Given the description of an element on the screen output the (x, y) to click on. 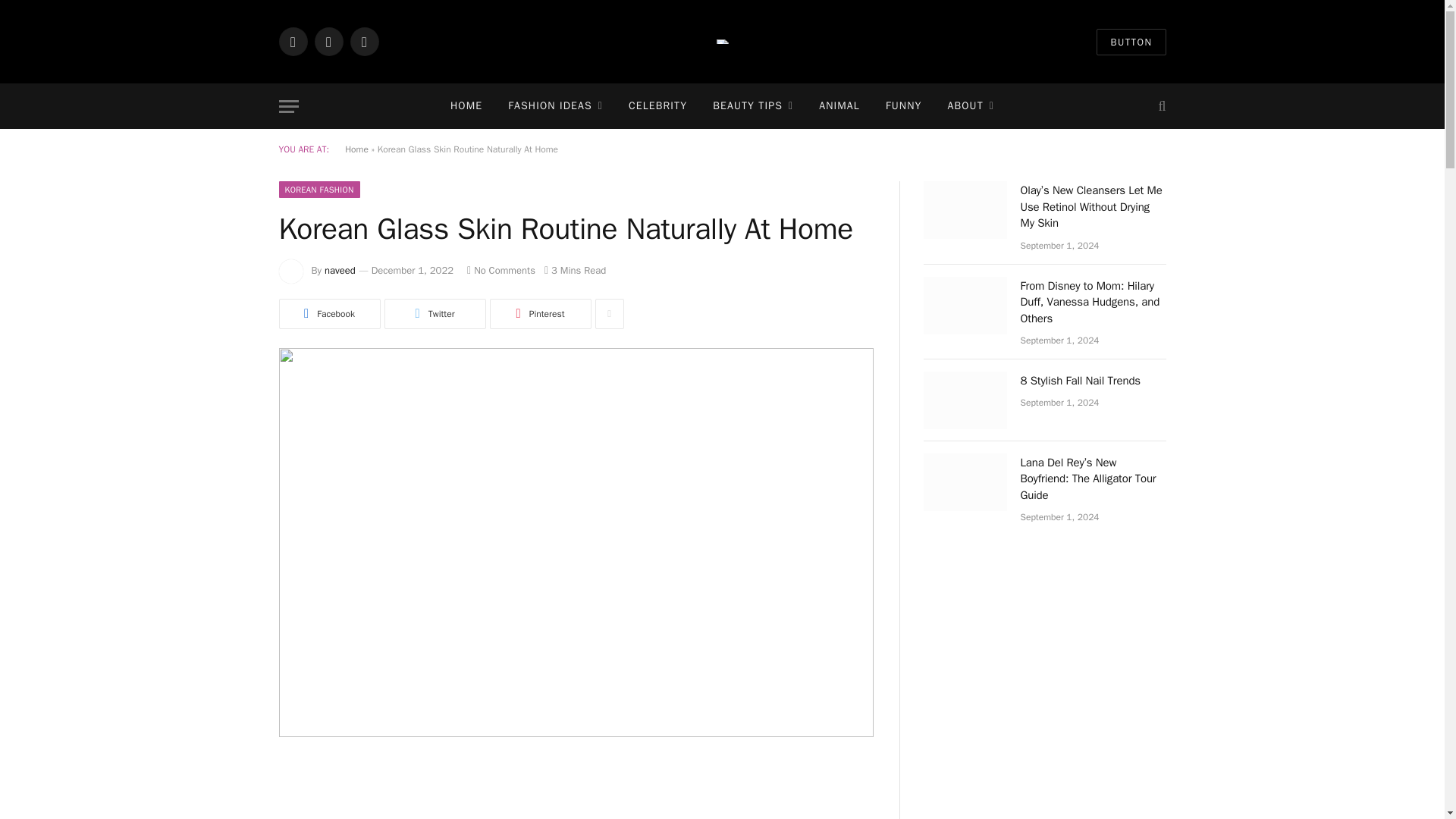
ABOUT (970, 105)
Show More Social Sharing (608, 313)
Home (356, 149)
Facebook (329, 313)
FASHION IDEAS (555, 105)
ANIMAL (839, 105)
Pinterest (540, 313)
Posts by naveed (339, 269)
BUTTON (1131, 41)
naveed (339, 269)
